Given the description of an element on the screen output the (x, y) to click on. 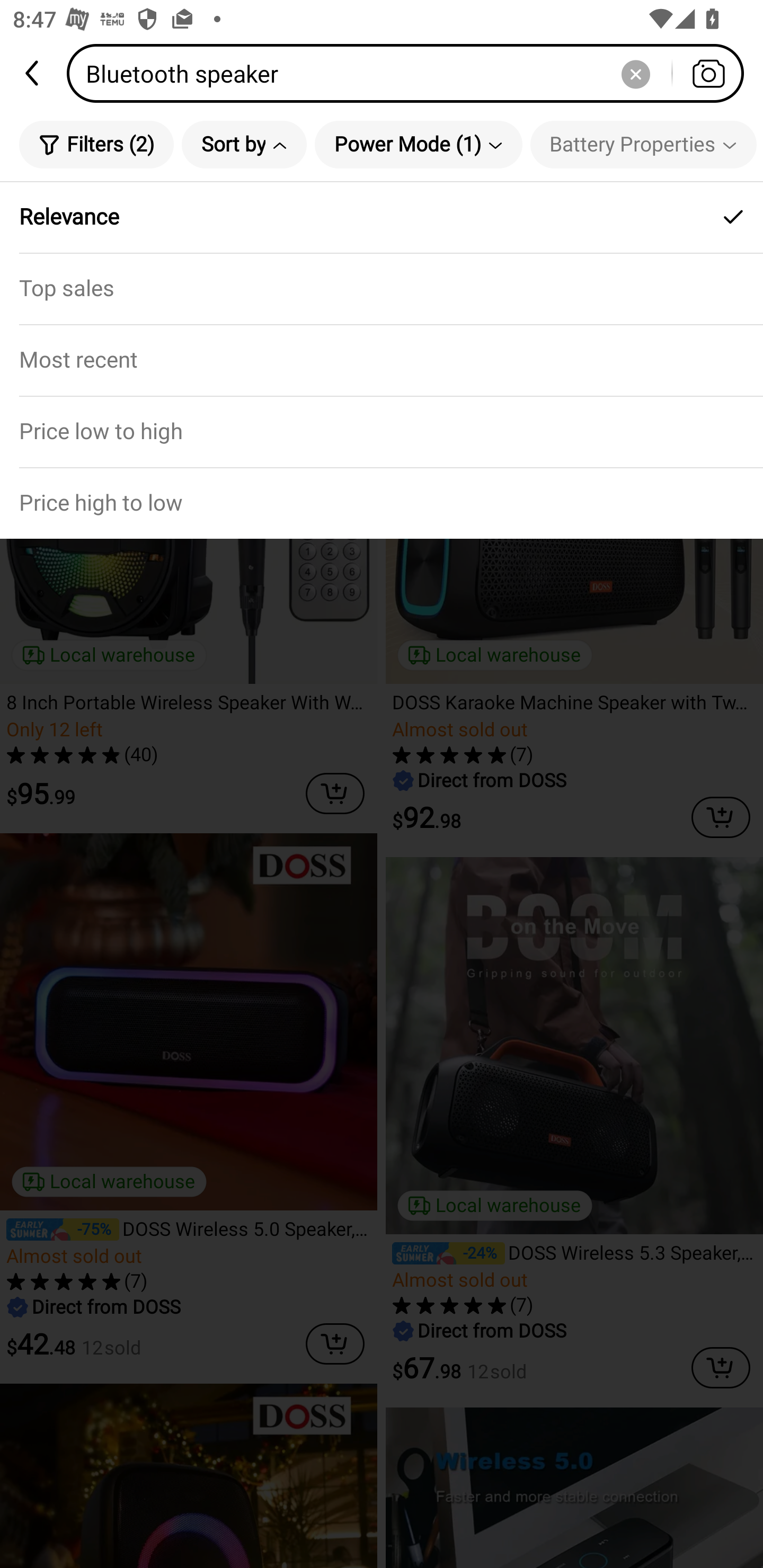
back (33, 72)
Bluetooth speaker (411, 73)
Delete search history (635, 73)
Search by photo (708, 73)
Filters (2) (96, 143)
Sort by (243, 143)
Power Mode (1) (418, 143)
Battery Properties (643, 143)
Relevance (381, 216)
Top sales (381, 288)
Most recent (381, 359)
Price low to high (381, 431)
Price high to low (381, 503)
